Given the description of an element on the screen output the (x, y) to click on. 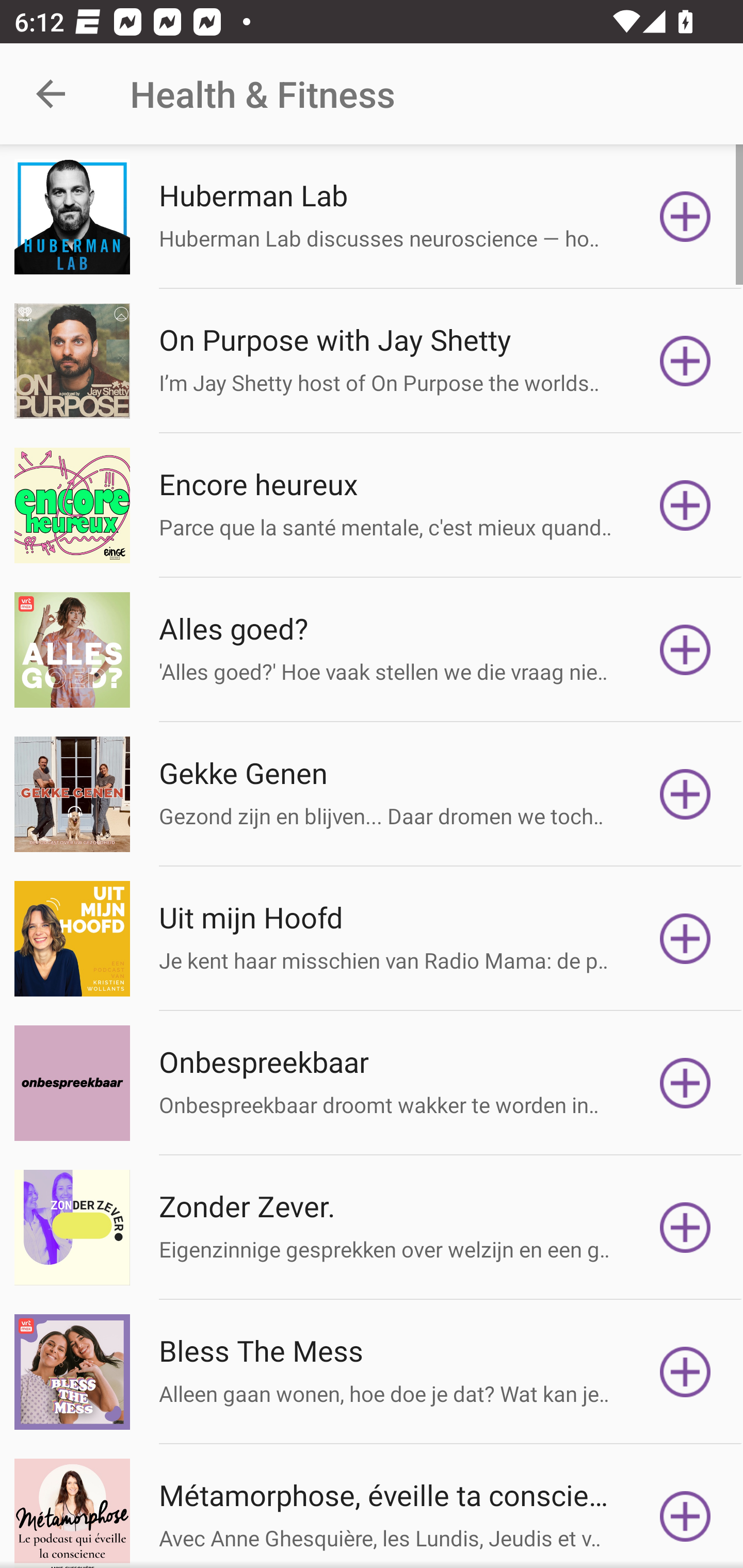
Navigate up (50, 93)
Subscribe (685, 216)
Subscribe (685, 360)
Subscribe (685, 505)
Subscribe (685, 649)
Subscribe (685, 793)
Subscribe (685, 939)
Subscribe (685, 1083)
Subscribe (685, 1227)
Subscribe (685, 1371)
Subscribe (685, 1513)
